Given the description of an element on the screen output the (x, y) to click on. 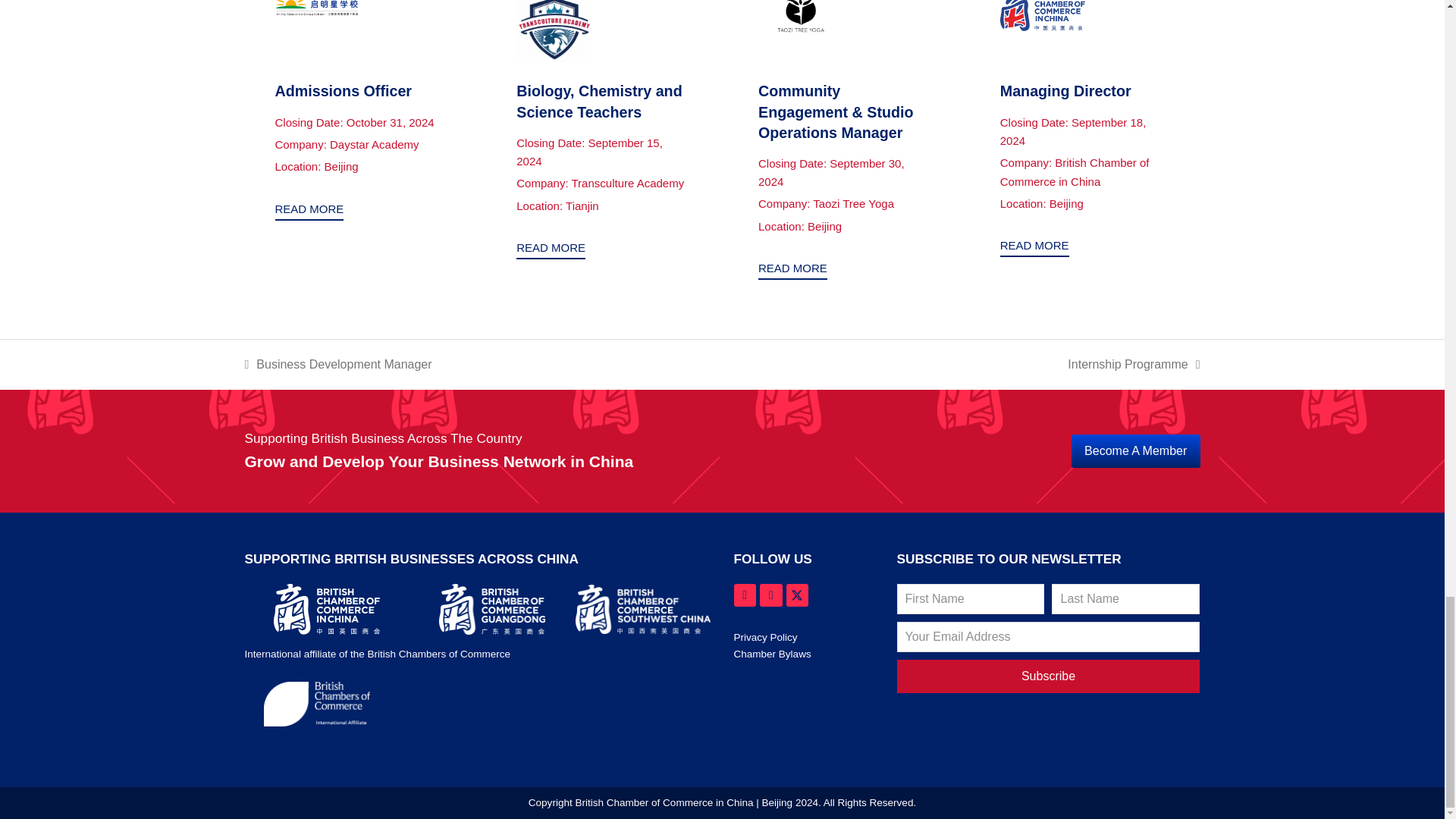
LinkedIn (745, 594)
Become A Member (1135, 450)
WeChat (771, 594)
Twitter (797, 594)
